Given the description of an element on the screen output the (x, y) to click on. 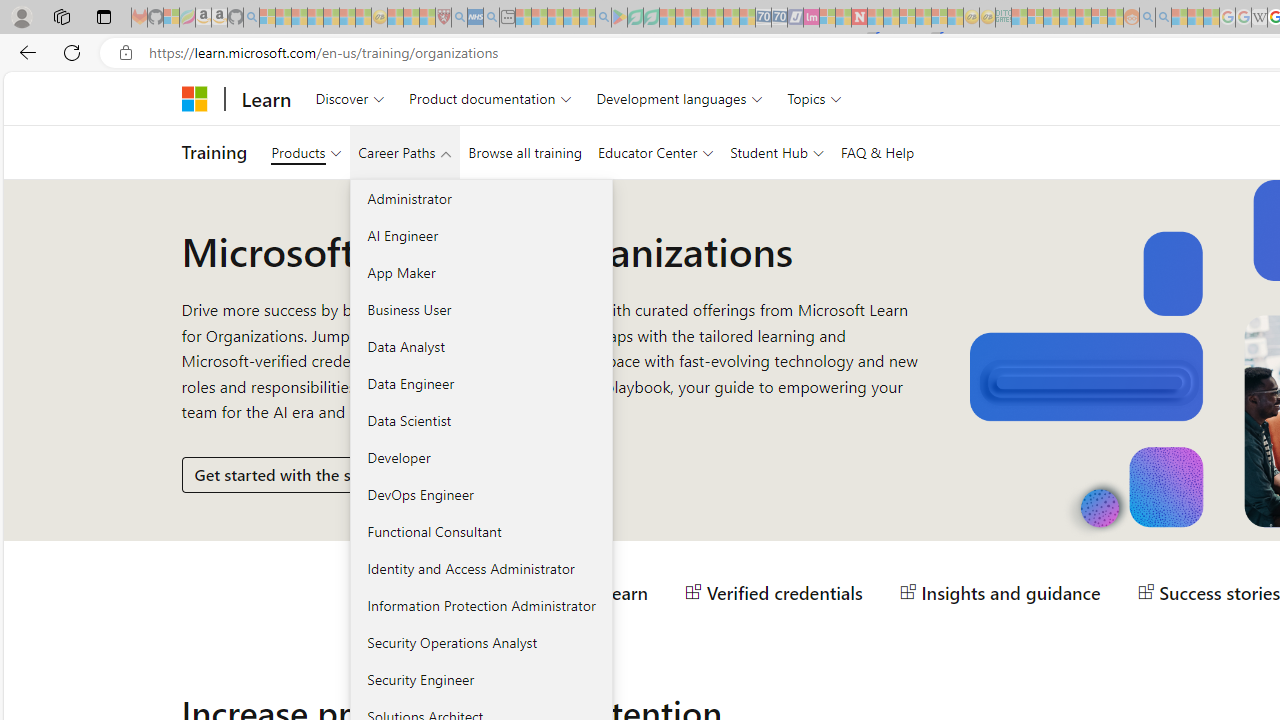
Information Protection Administrator (480, 605)
Business User (480, 309)
Data Scientist (480, 420)
DevOps Engineer (480, 493)
Functional Consultant (480, 531)
Identity and Access Administrator (480, 568)
